Given the description of an element on the screen output the (x, y) to click on. 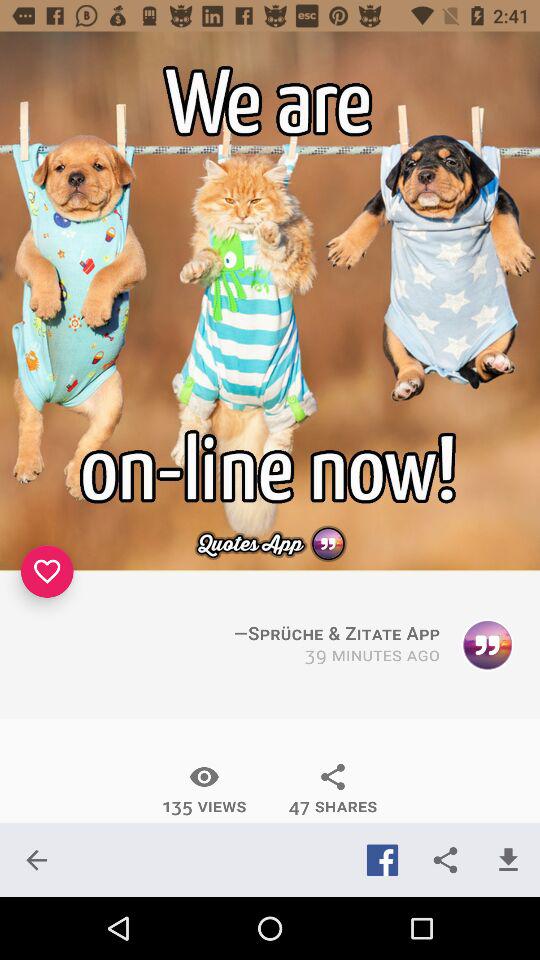
enlarge photo (270, 301)
